Given the description of an element on the screen output the (x, y) to click on. 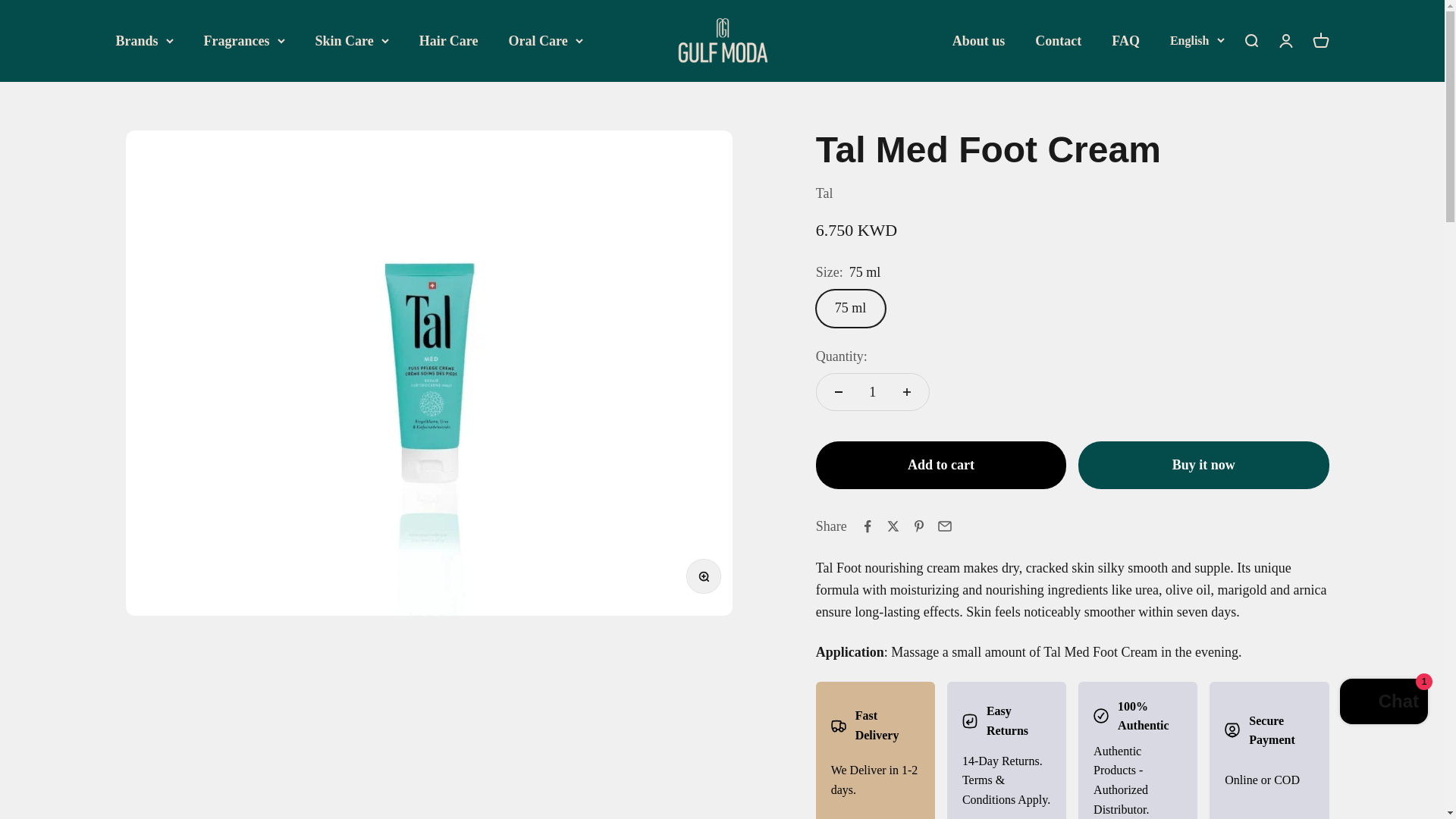
Open search (1250, 40)
FAQ (1126, 40)
Shopify online store chat (1383, 703)
Open account page (1285, 40)
Gulf Moda (722, 40)
English (1197, 40)
About us (979, 40)
Hair Care (449, 40)
Contact (1058, 40)
